Given the description of an element on the screen output the (x, y) to click on. 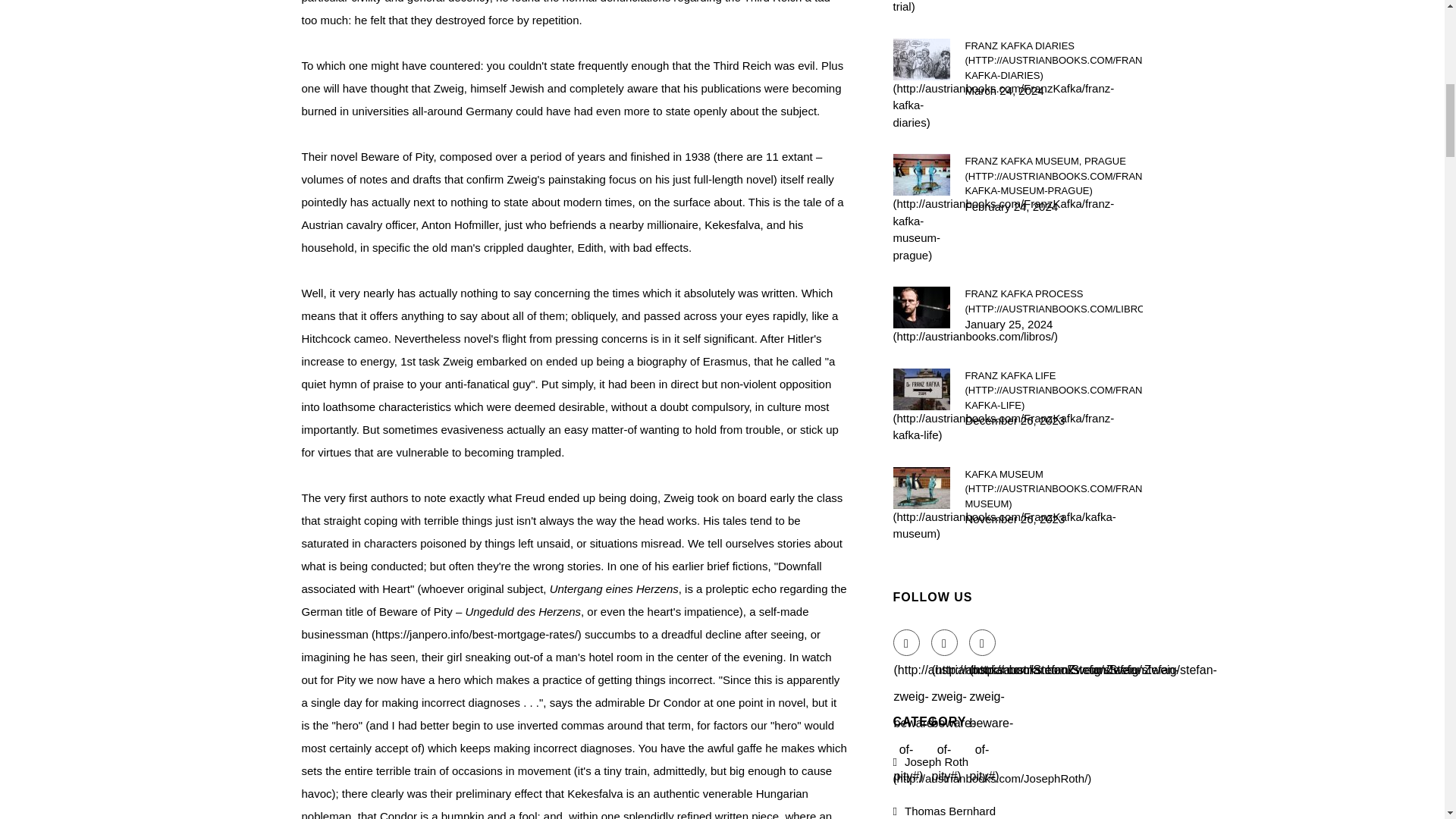
businessman (440, 634)
Google Plus (982, 642)
Facebook (906, 642)
Twitter (944, 642)
View all posts filed under Joseph Roth (992, 770)
View all posts filed under Thomas Bernhard (1006, 811)
